Given the description of an element on the screen output the (x, y) to click on. 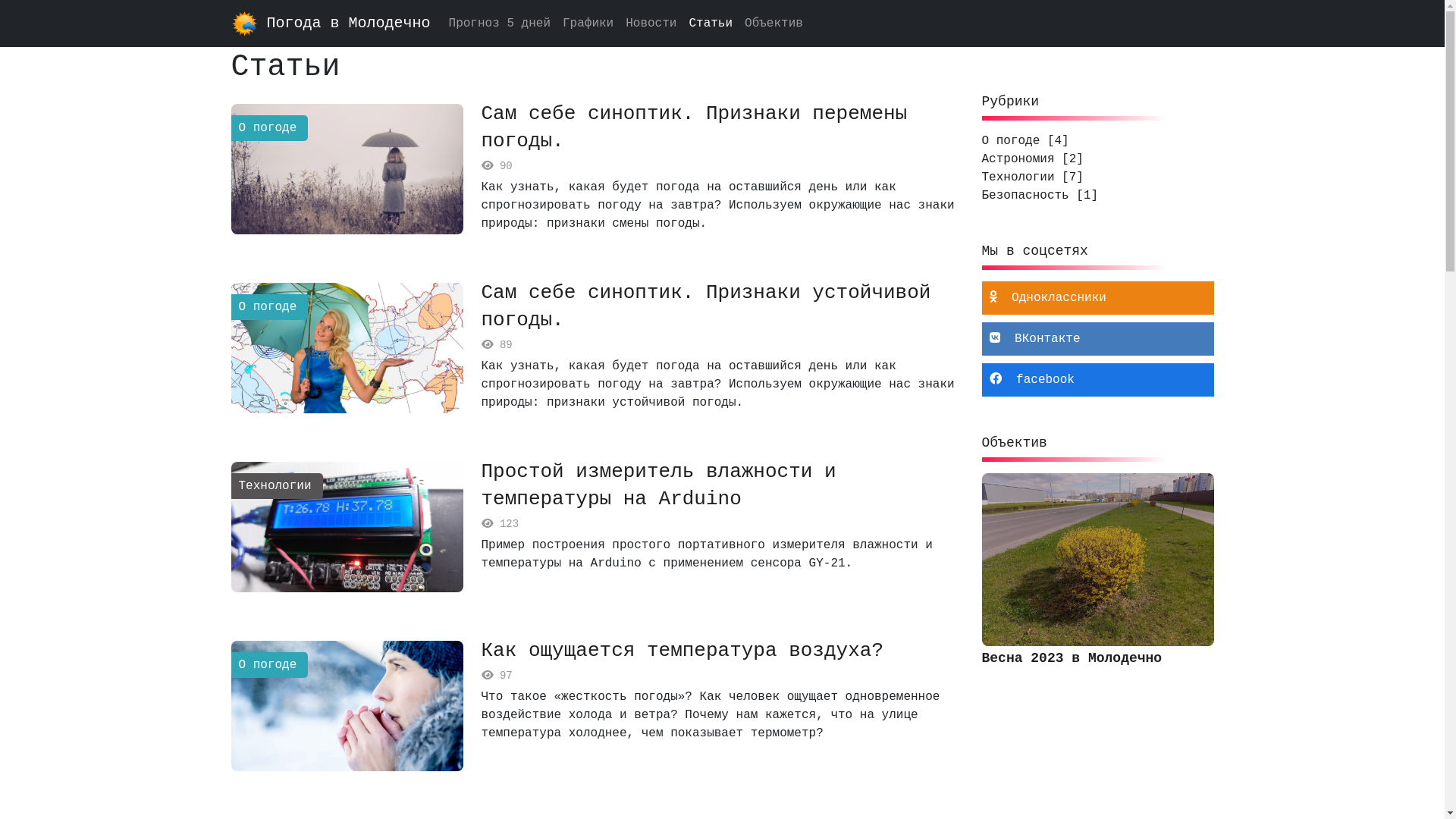
facebook Element type: text (1097, 379)
